Given the description of an element on the screen output the (x, y) to click on. 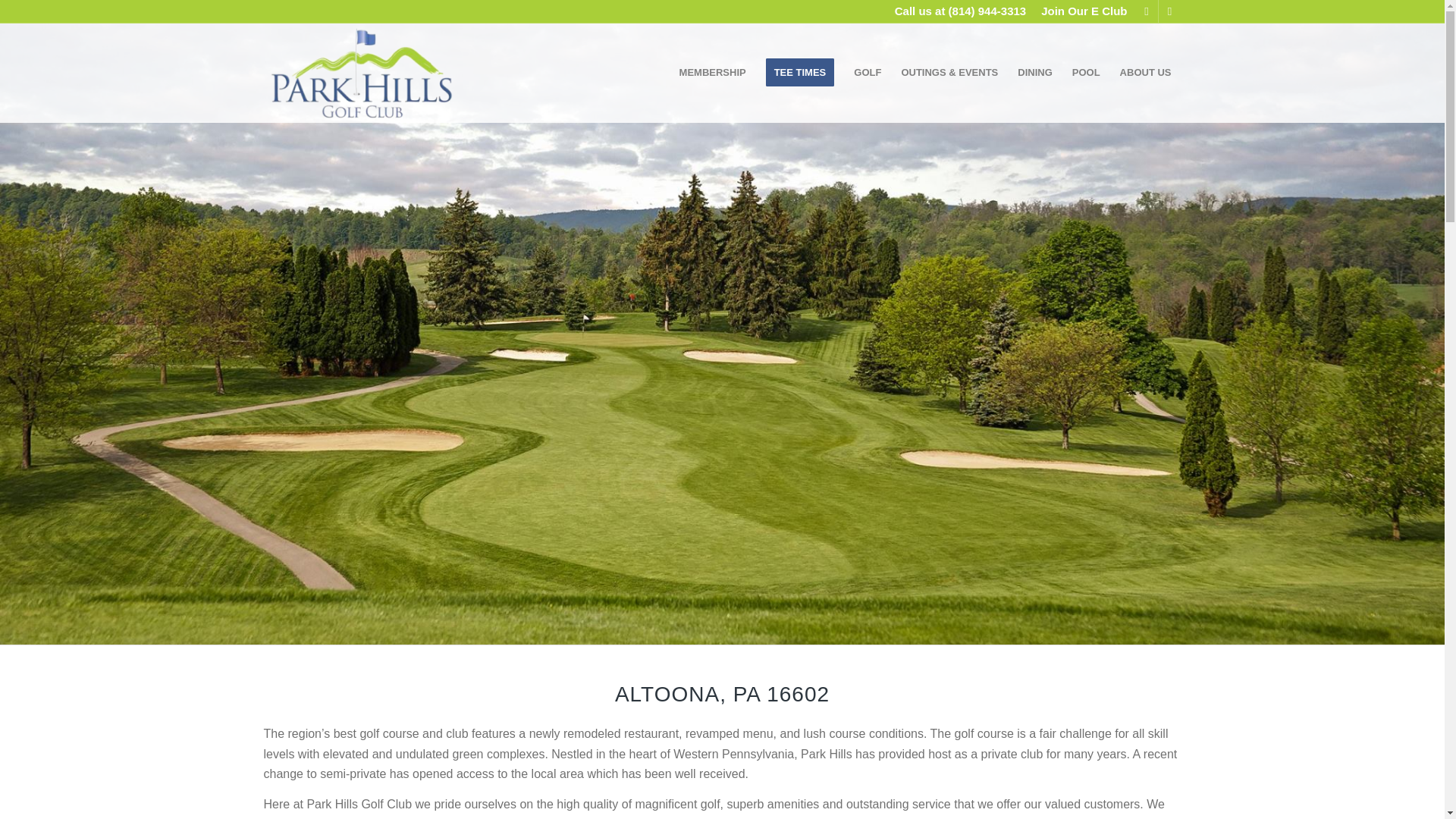
Mail (1169, 11)
Facebook (1146, 11)
TEE TIMES (799, 72)
Join Our E Club (1083, 11)
